Given the description of an element on the screen output the (x, y) to click on. 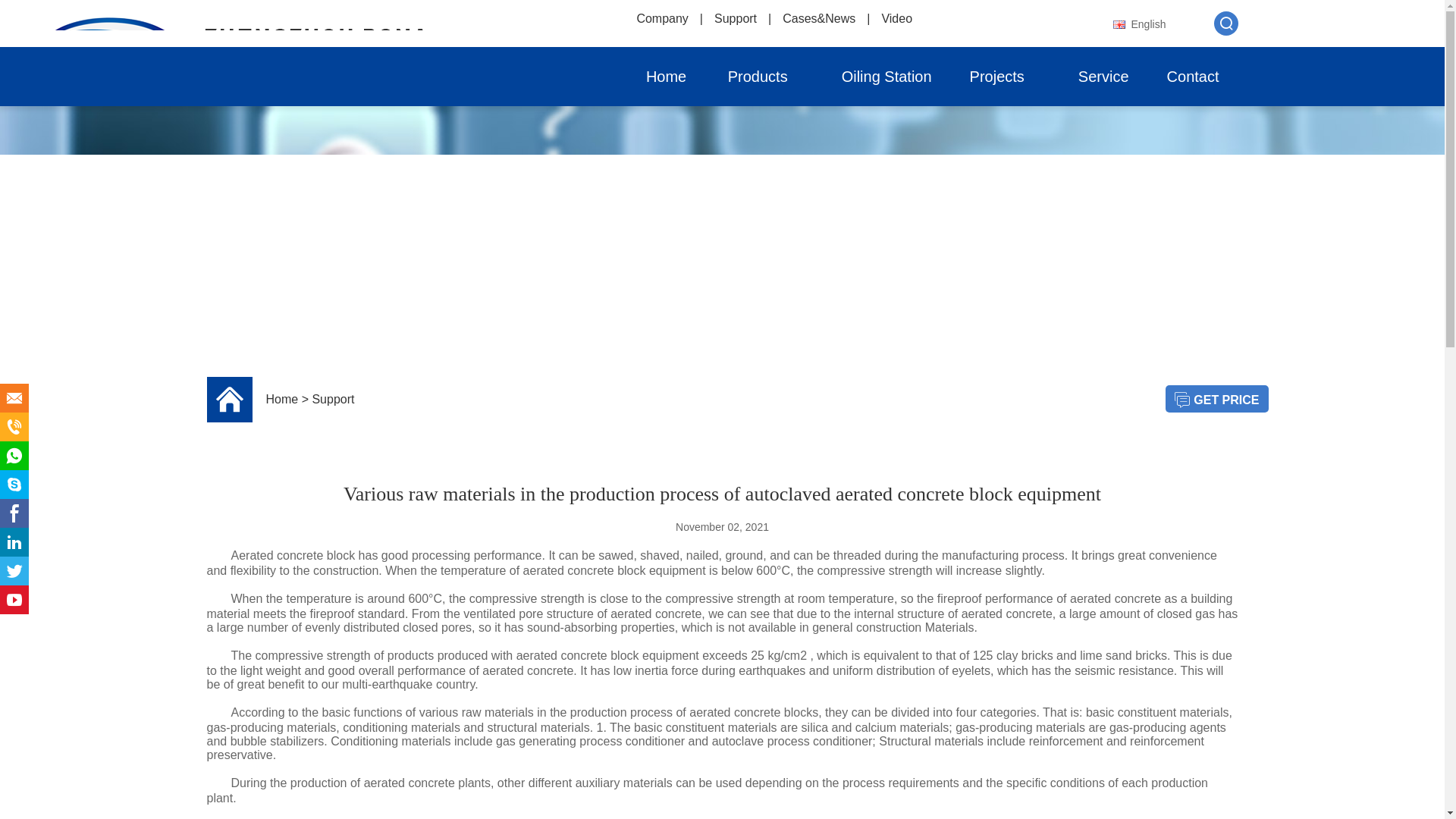
Products (765, 76)
Oiling Station (886, 76)
Home (665, 76)
Video (896, 18)
Products (765, 76)
Home (665, 76)
Support (735, 18)
oiling station (886, 76)
Zhengzhou Bona Enterprise Co., Ltd. (286, 53)
English (1148, 24)
Company (661, 18)
Projects (1004, 76)
Company (661, 18)
Support (735, 18)
Service (1103, 76)
